Given the description of an element on the screen output the (x, y) to click on. 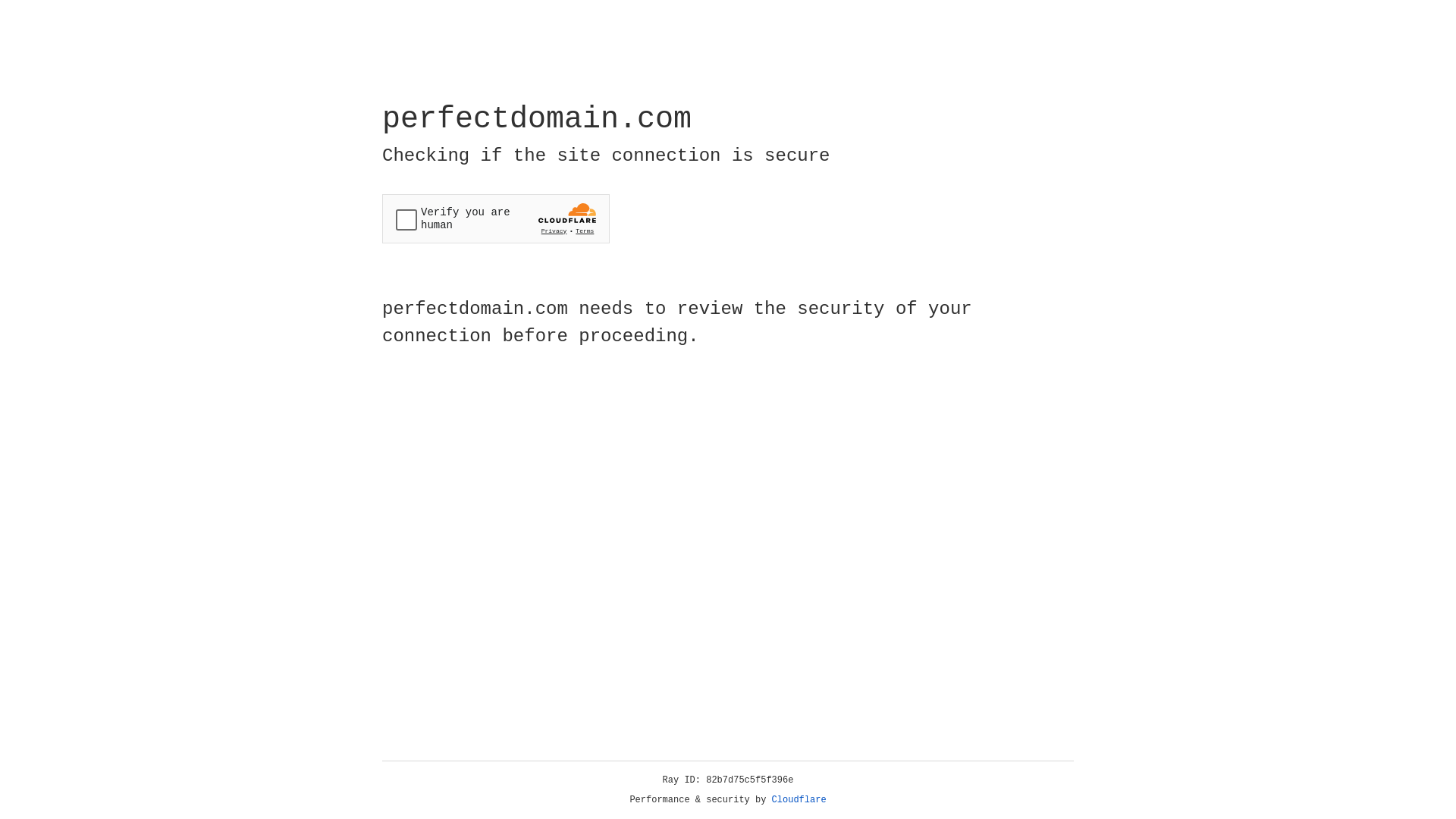
Widget containing a Cloudflare security challenge Element type: hover (495, 218)
Cloudflare Element type: text (798, 799)
